Given the description of an element on the screen output the (x, y) to click on. 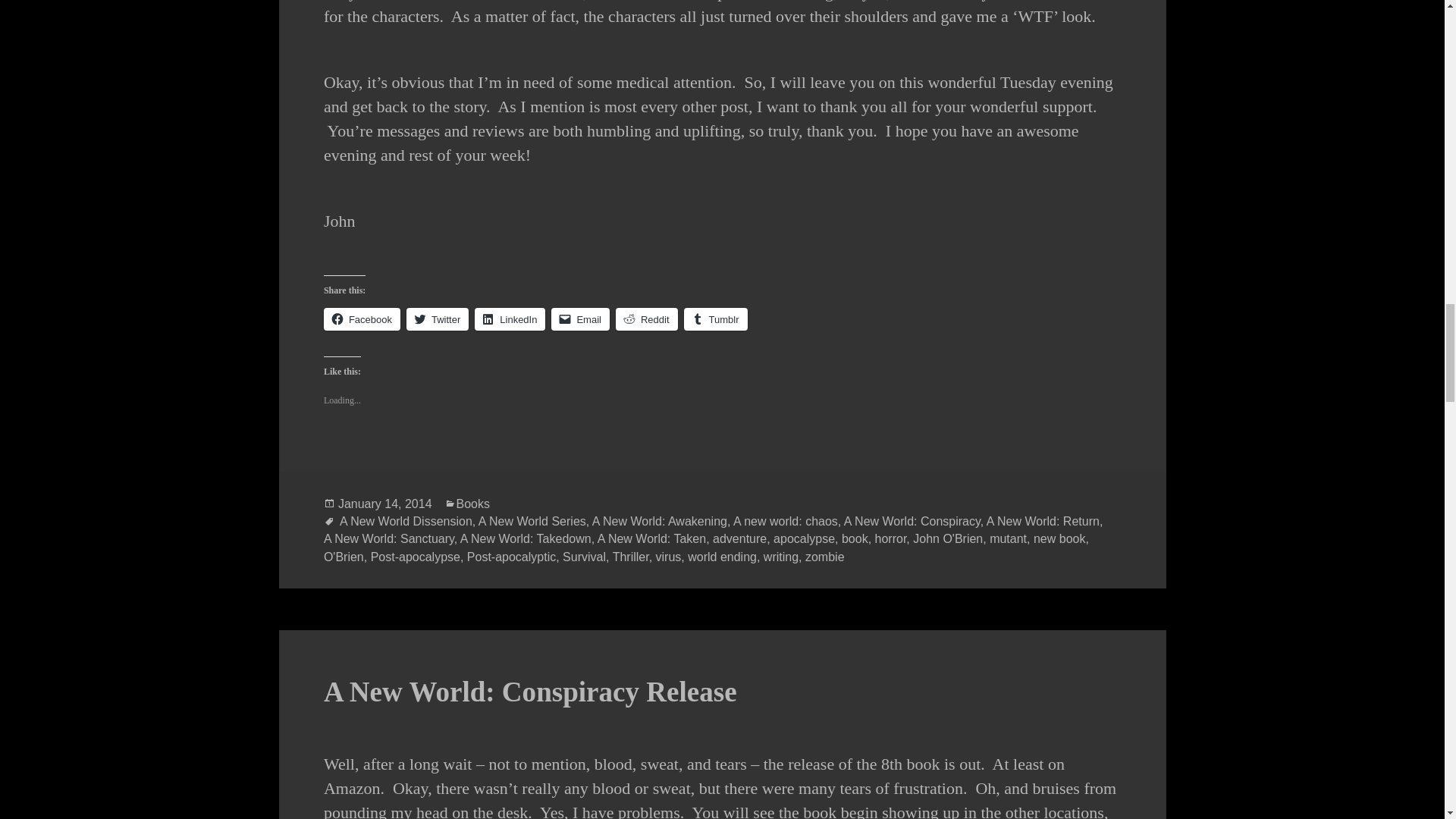
Click to share on LinkedIn (509, 318)
Click to email a link to a friend (580, 318)
Click to share on Facebook (361, 318)
Click to share on Twitter (437, 318)
Click to share on Tumblr (716, 318)
Click to share on Reddit (646, 318)
